Given the description of an element on the screen output the (x, y) to click on. 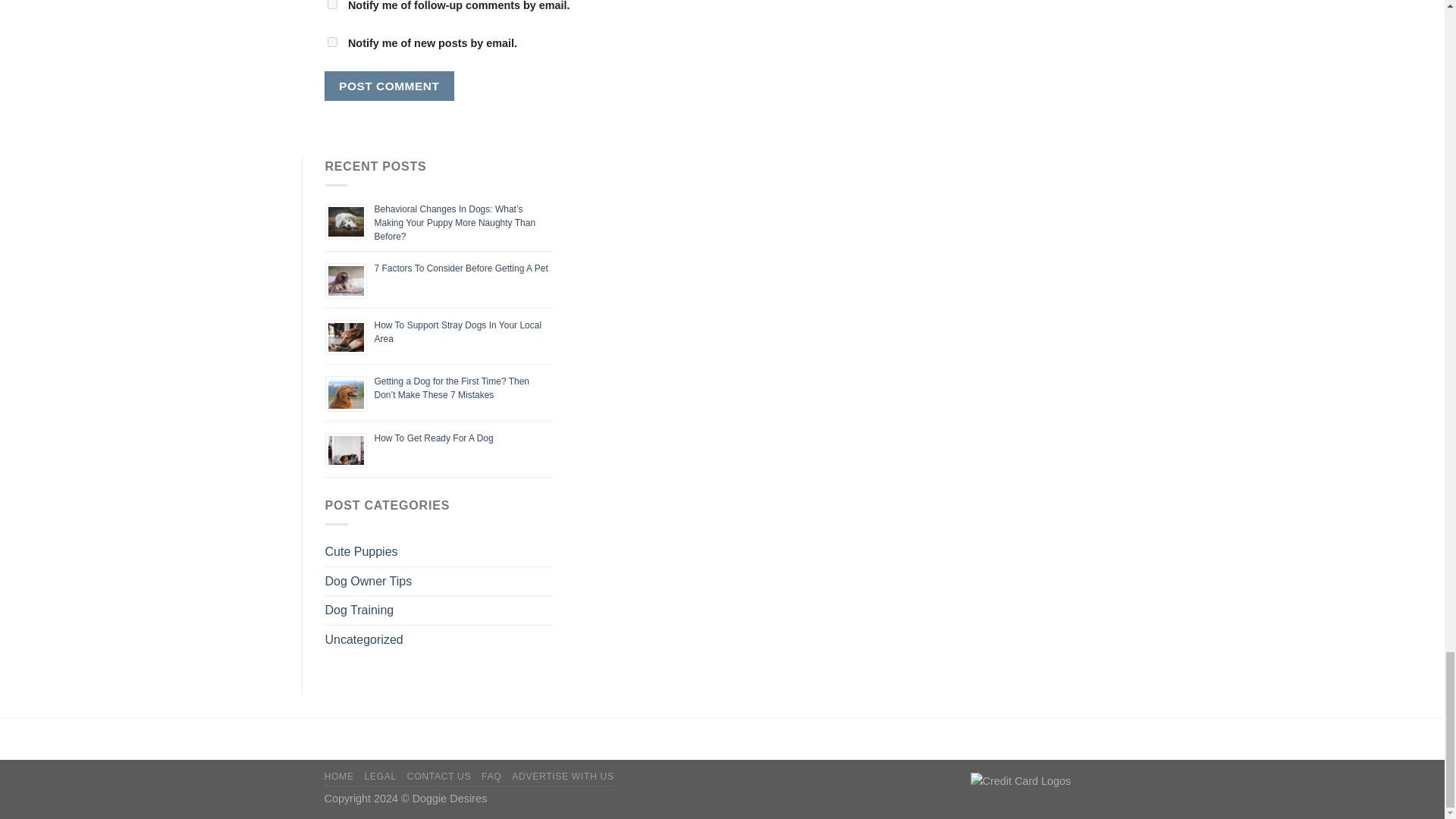
Credit Card Logos (1046, 783)
subscribe (332, 4)
subscribe (332, 41)
Post Comment (389, 85)
